Given the description of an element on the screen output the (x, y) to click on. 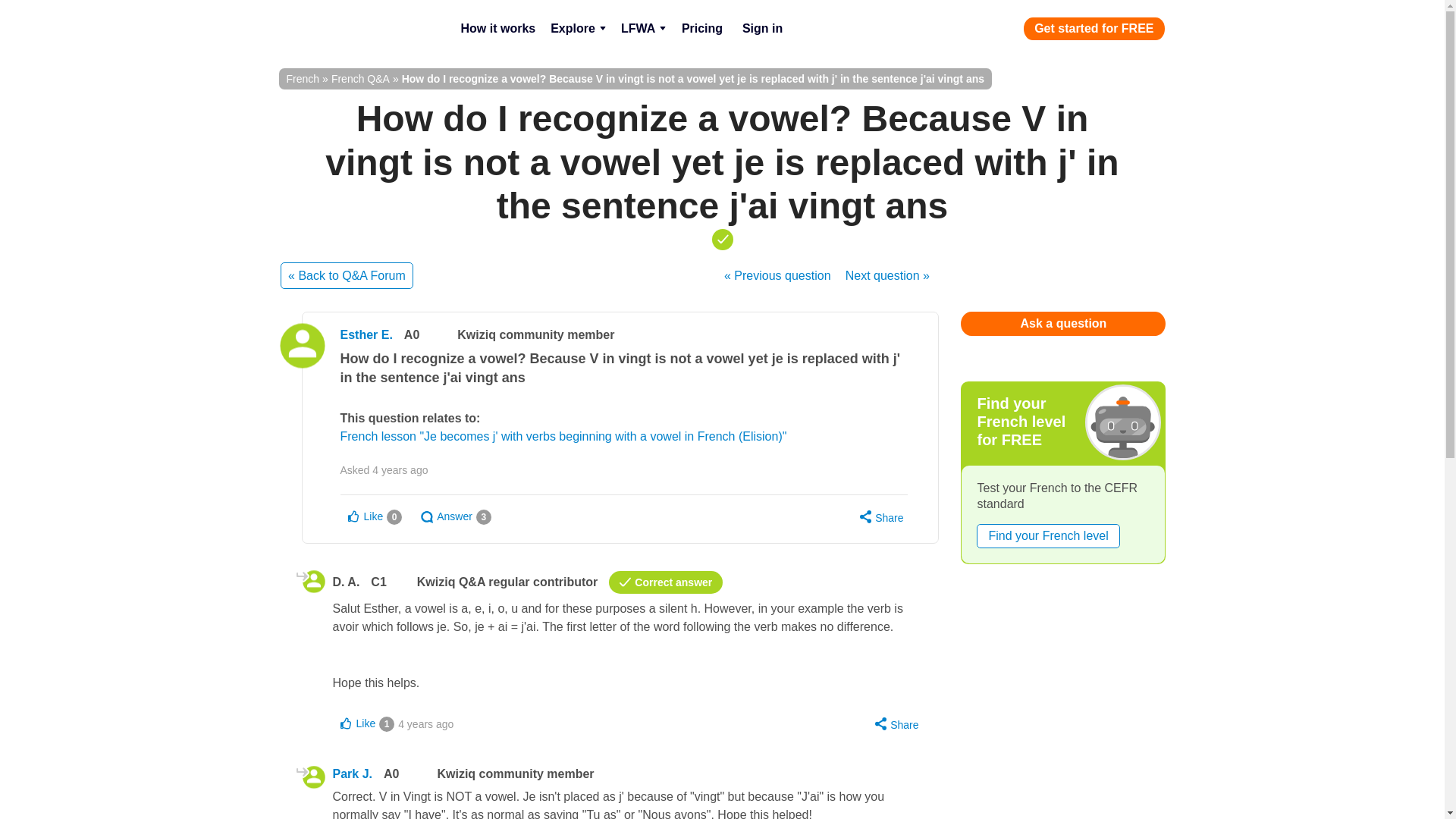
LFWA (643, 28)
Explore (577, 28)
22nd April 2020 (400, 469)
How it works (497, 28)
22nd April 2020 (424, 723)
